Given the description of an element on the screen output the (x, y) to click on. 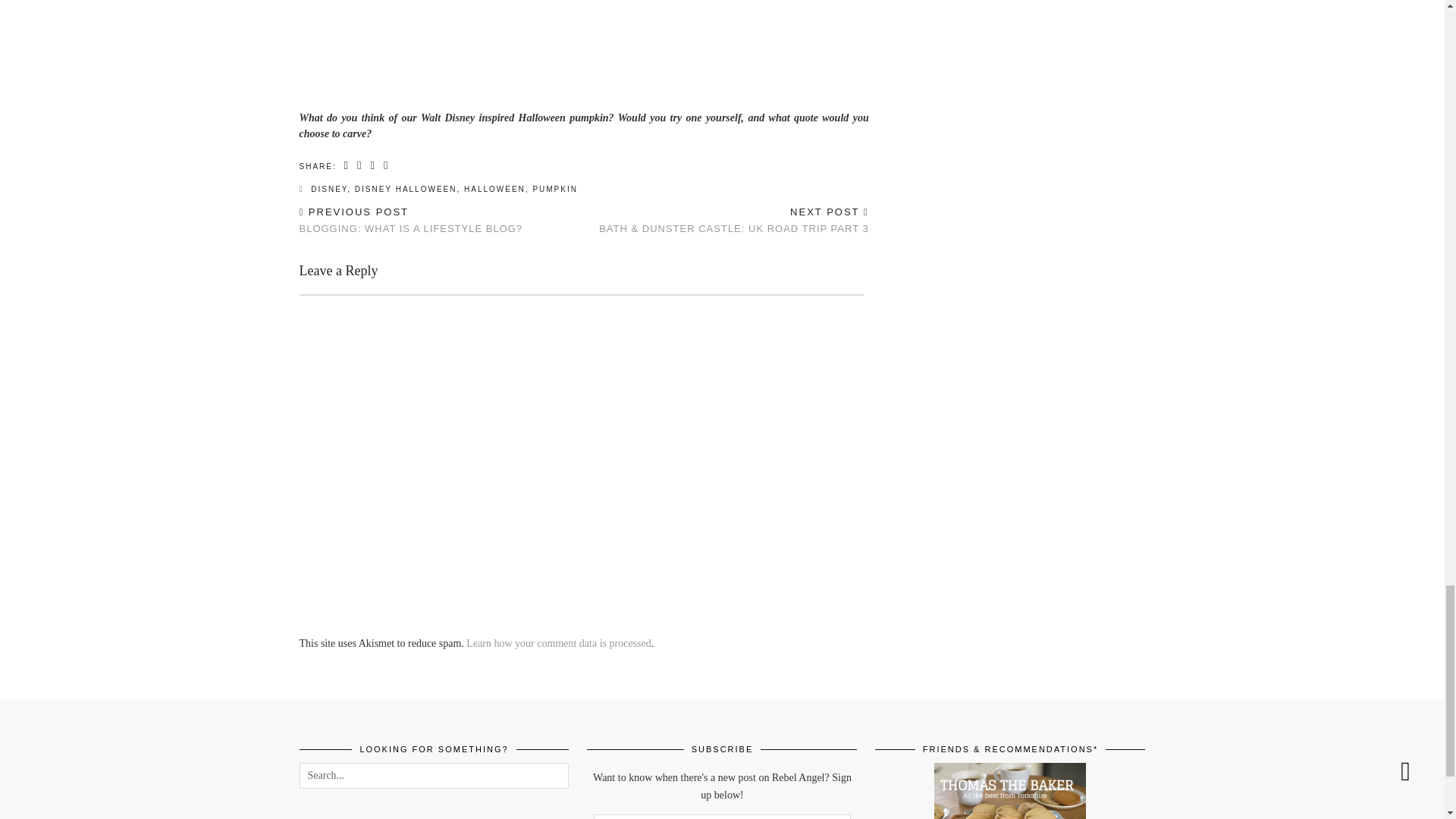
Share on Pinterest (372, 164)
Share on Facebook (346, 164)
Share on tumblr (386, 164)
Share on Twitter (359, 164)
